Given the description of an element on the screen output the (x, y) to click on. 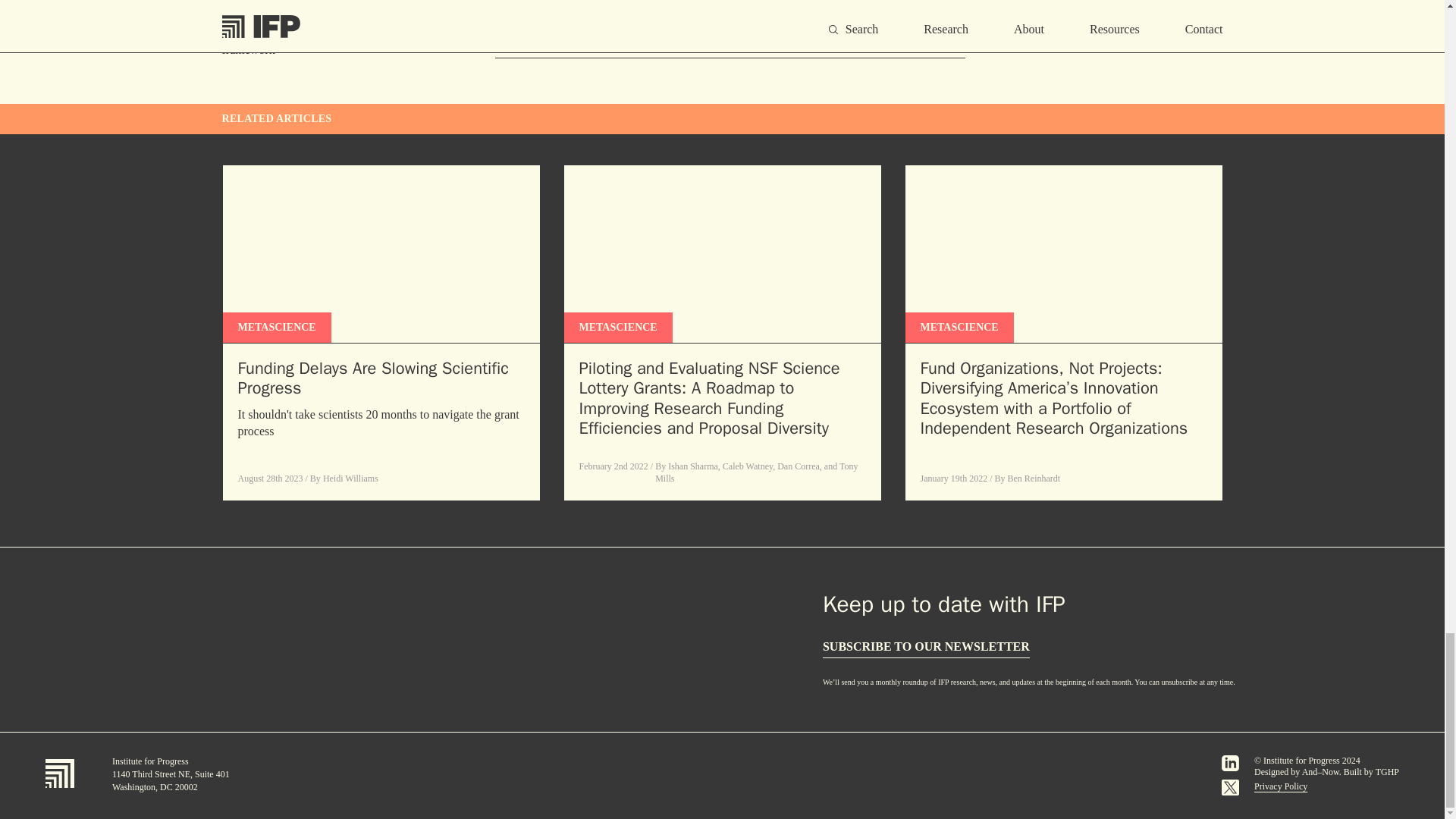
Connect with us on LinkedIn (1230, 763)
Connect with us on Twitter (1230, 787)
